Given the description of an element on the screen output the (x, y) to click on. 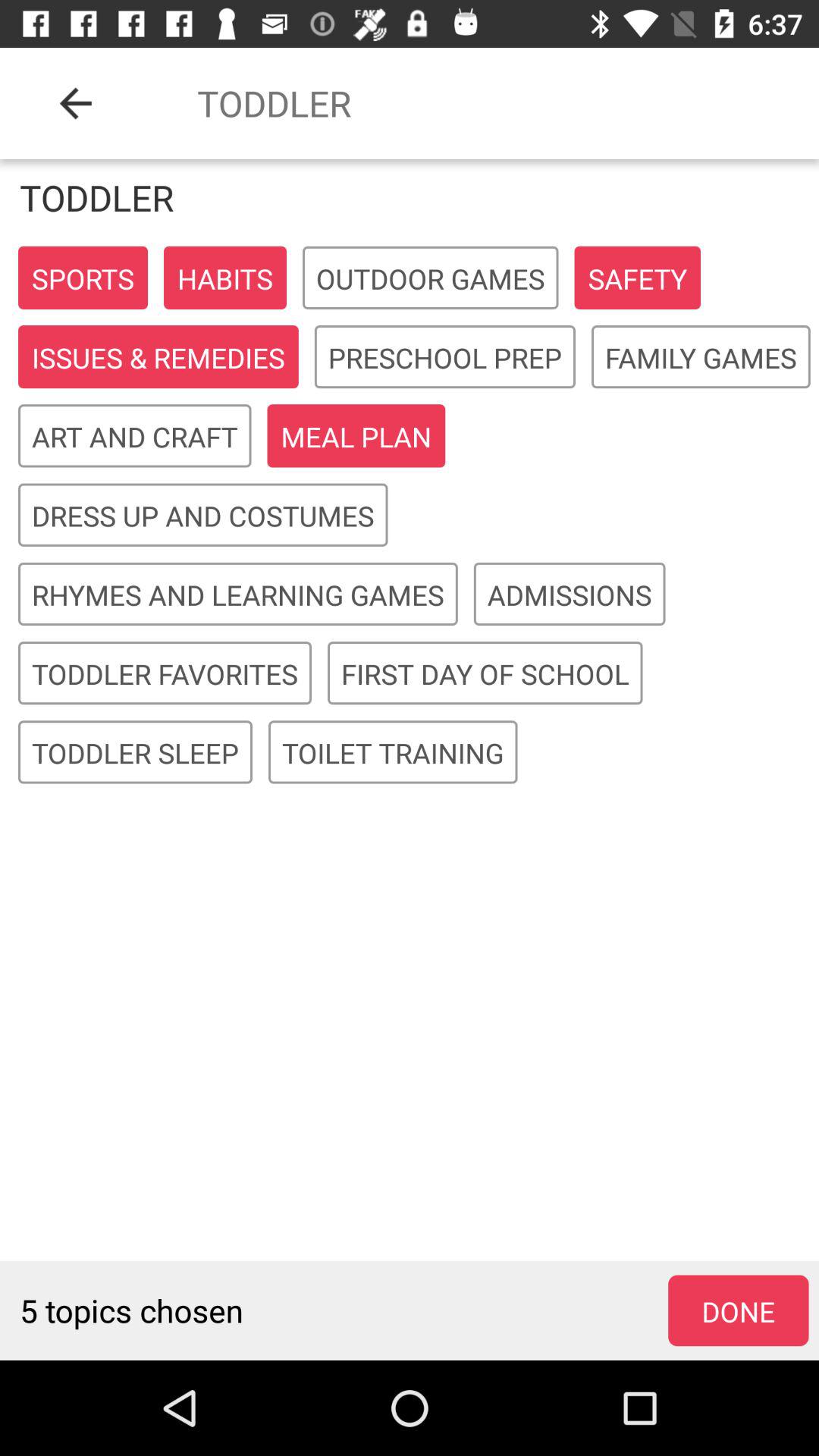
press the item next to safety item (430, 278)
